Given the description of an element on the screen output the (x, y) to click on. 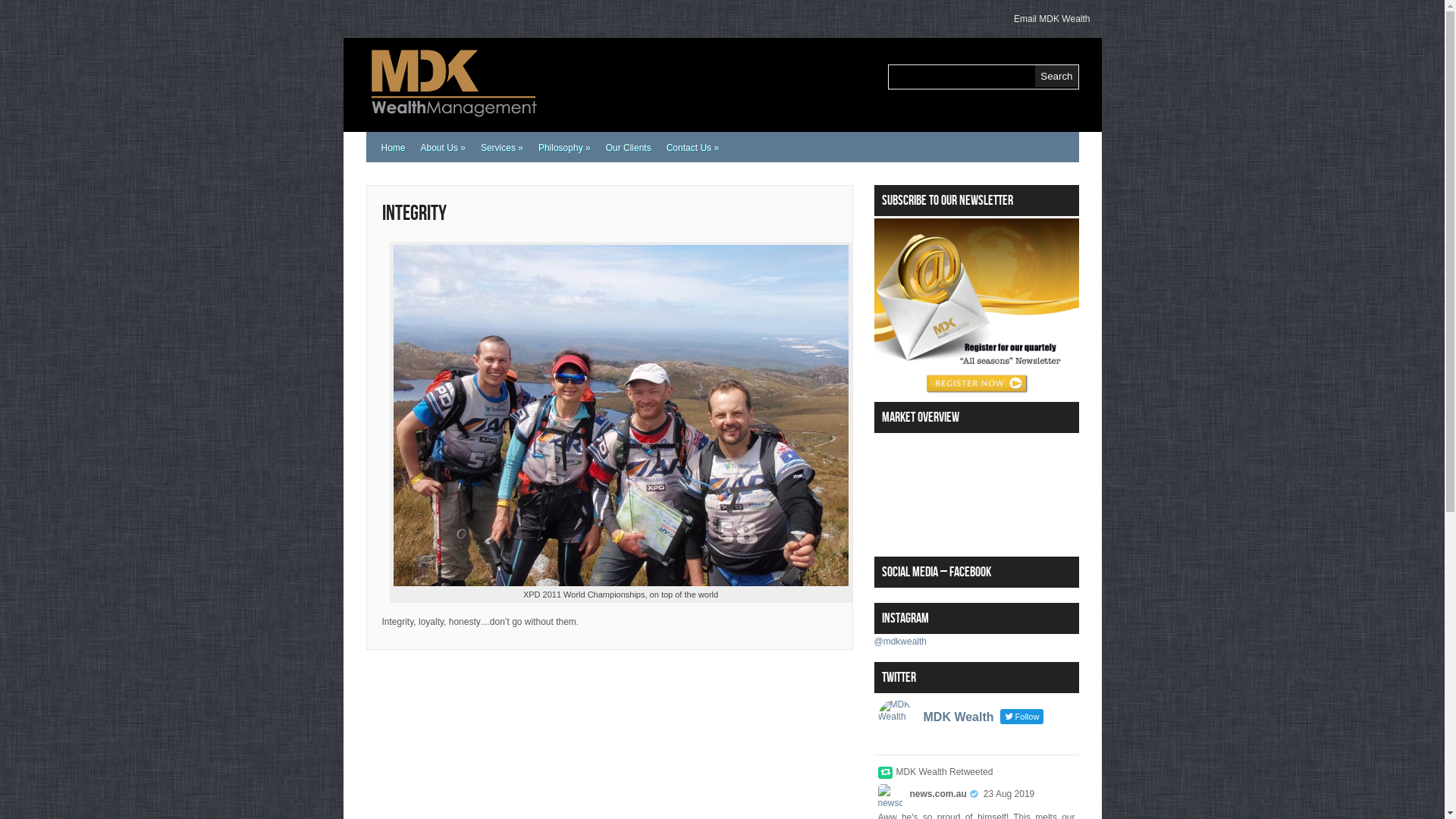
Search Element type: text (1056, 76)
Home Element type: text (392, 147)
Integrity Element type: text (414, 212)
MDK WealthFollow Element type: text (976, 721)
@mdkwealth Element type: text (899, 640)
Our Clients Element type: text (628, 147)
MDK Wealth Retweeted Element type: text (944, 770)
Email MDK Wealth Element type: text (1051, 18)
news.com.au Element type: text (938, 793)
Retweet on Twitter Element type: text (885, 771)
23 Aug 2019 Element type: text (1008, 793)
